Given the description of an element on the screen output the (x, y) to click on. 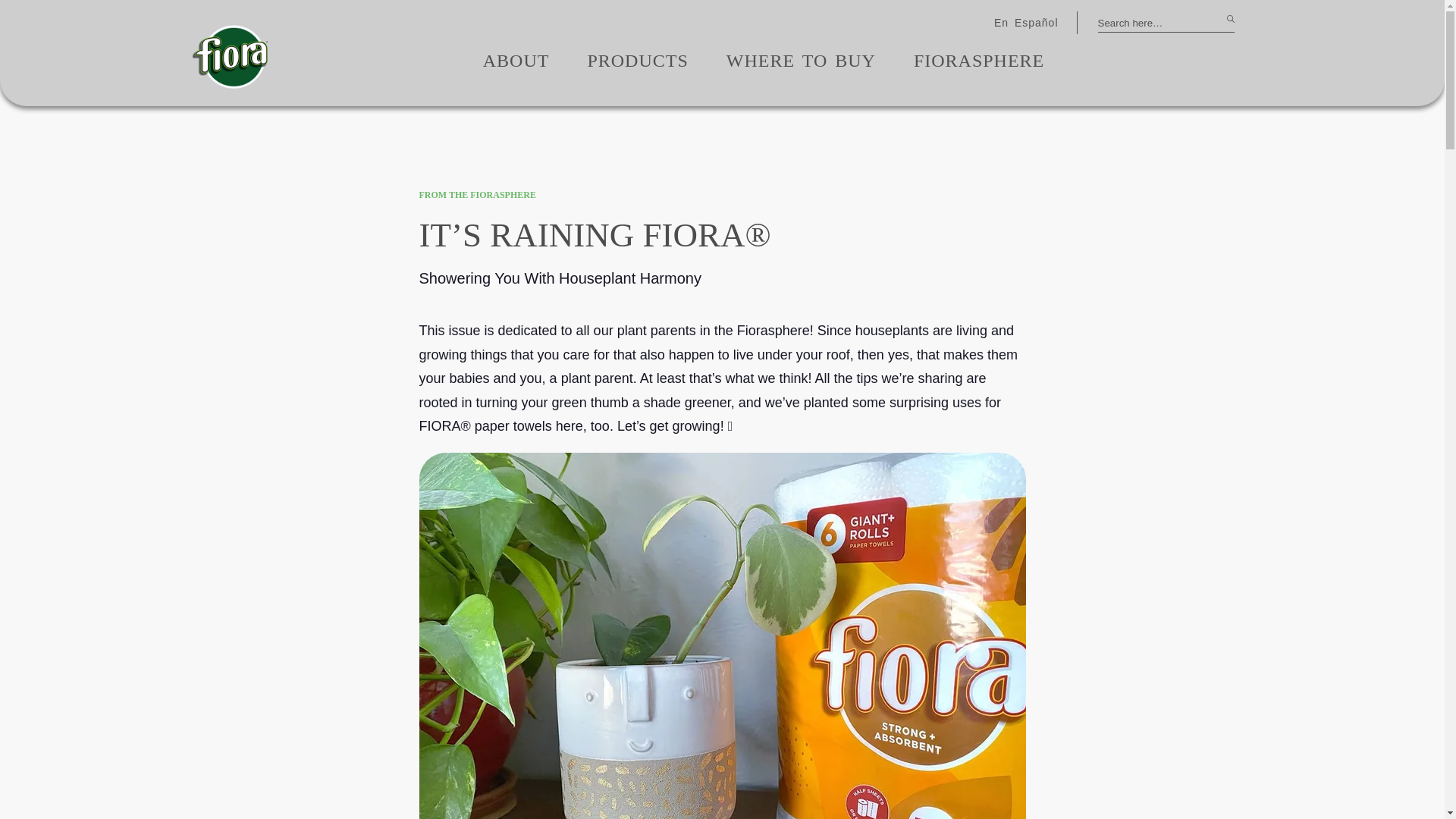
FIORASPHERE (978, 60)
ABOUT (516, 60)
WHERE TO BUY (801, 60)
PRODUCTS (636, 60)
